Given the description of an element on the screen output the (x, y) to click on. 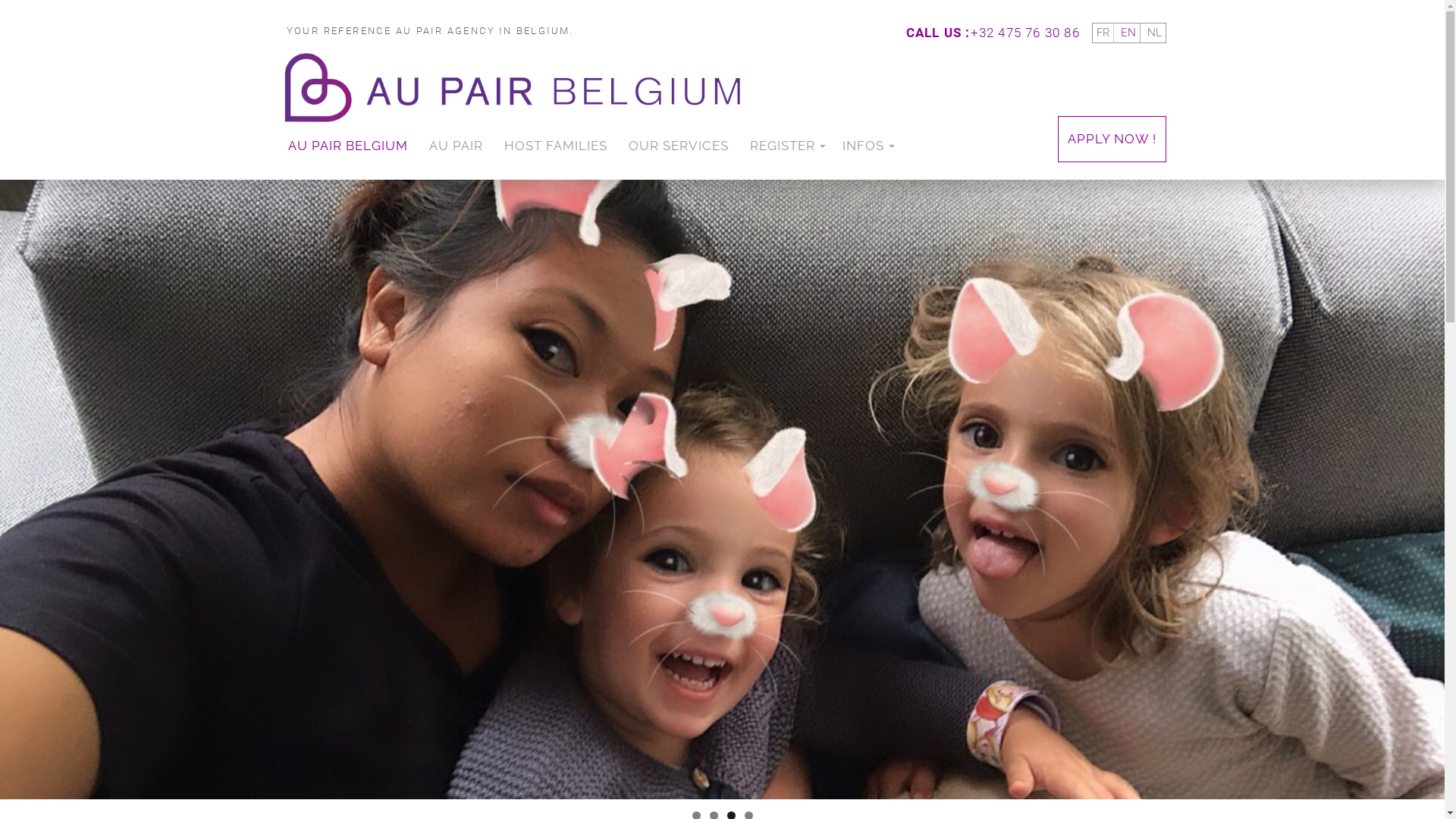
INFOS Element type: text (865, 145)
APPLY NOW ! Element type: text (1111, 139)
AU PAIR BELGIUM Element type: text (348, 145)
FR Element type: text (1102, 32)
REGISTER Element type: text (784, 145)
NL Element type: text (1154, 32)
CALL US : +32 475 76 30 86 Element type: text (992, 33)
8799e8d1-967f-4075-96fd-417920e16c10 Element type: hover (722, 488)
OUR SERVICES Element type: text (677, 145)
EN Element type: text (1127, 32)
HOST FAMILIES Element type: text (554, 145)
AU PAIR Element type: text (456, 145)
